Given the description of an element on the screen output the (x, y) to click on. 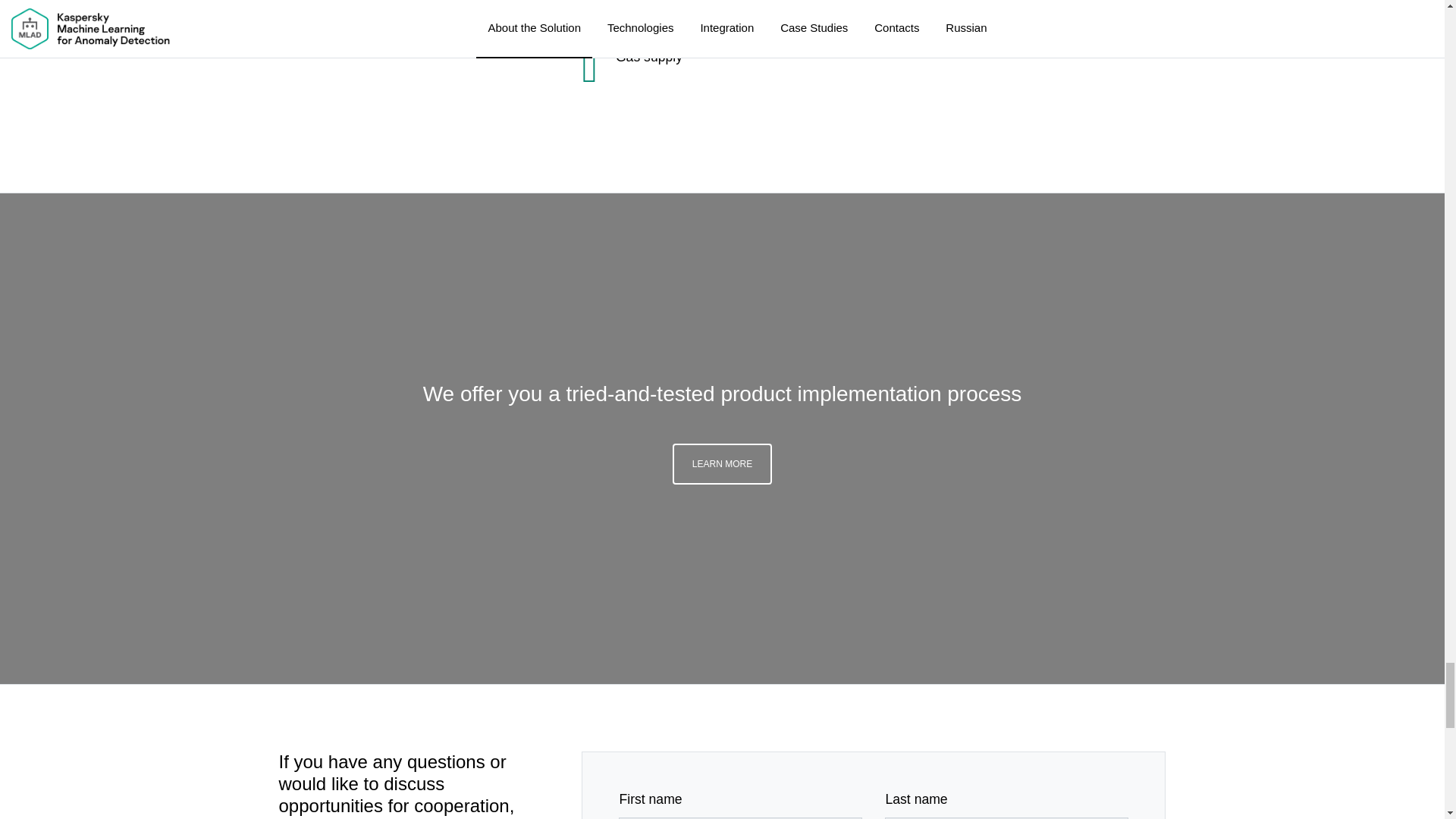
LEARN MORE (721, 41)
